Given the description of an element on the screen output the (x, y) to click on. 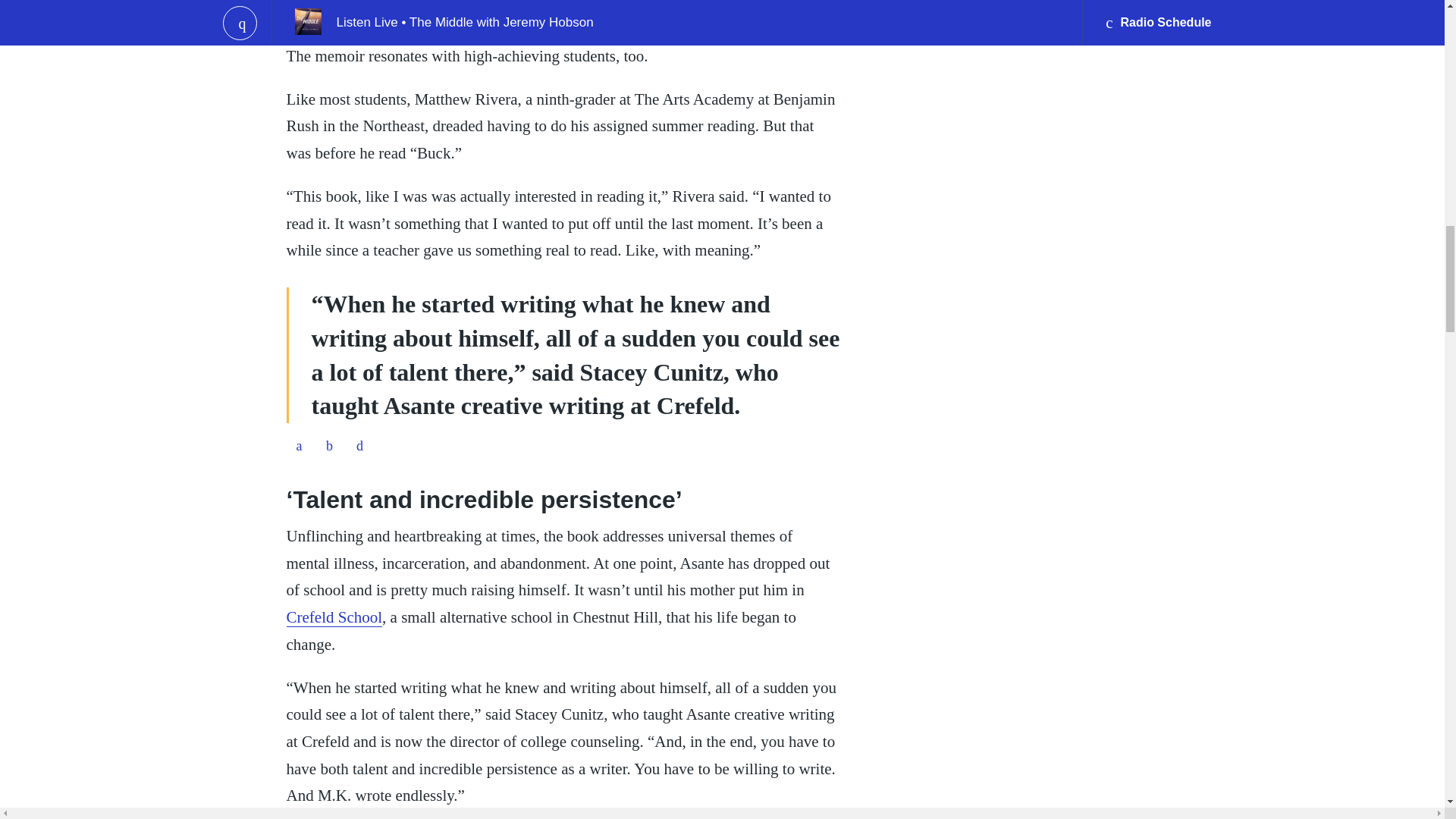
Facebook (298, 445)
Email (358, 445)
Twitter (328, 445)
3rd party ad content (562, 6)
